Given the description of an element on the screen output the (x, y) to click on. 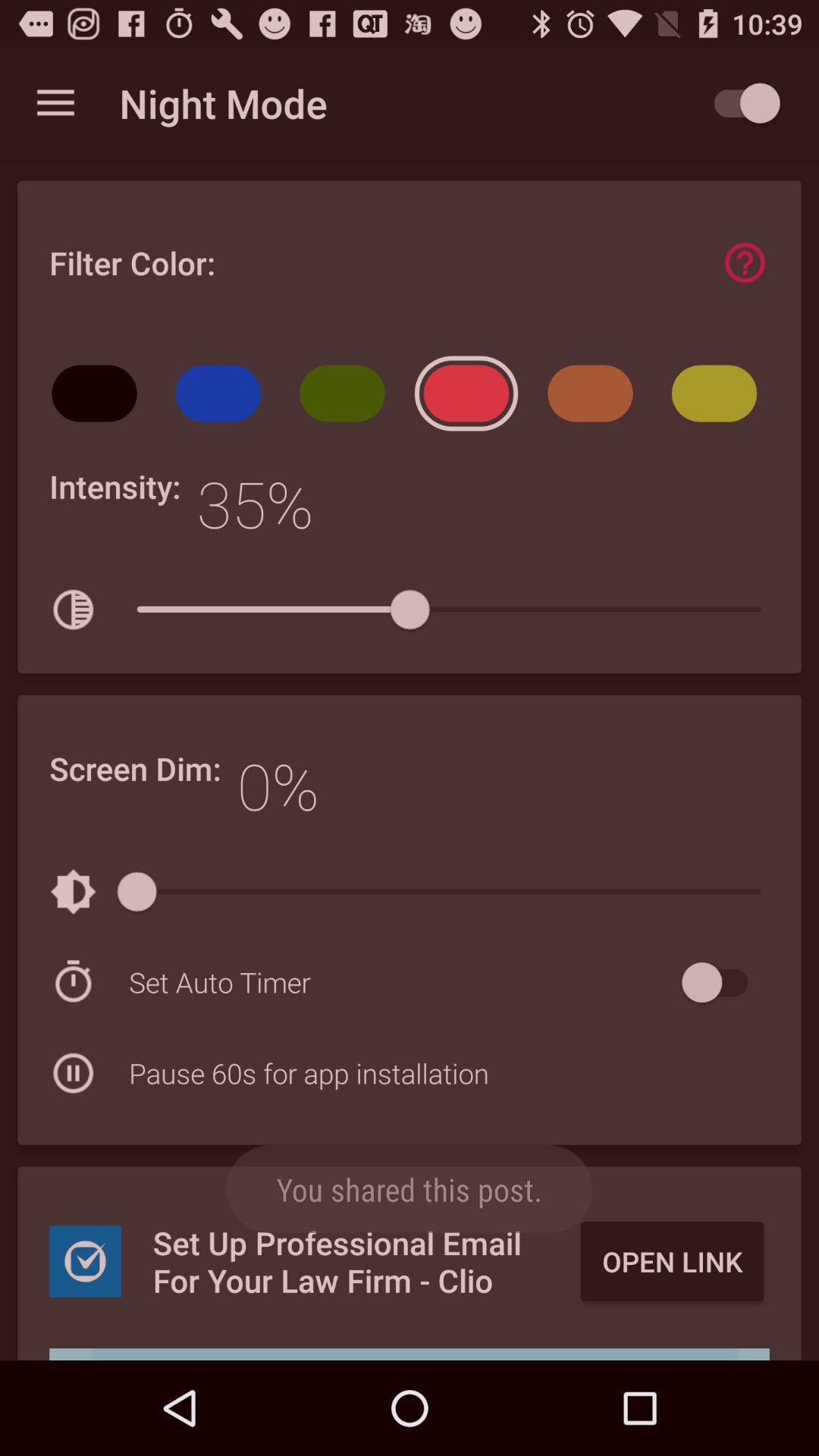
help page (744, 262)
